Given the description of an element on the screen output the (x, y) to click on. 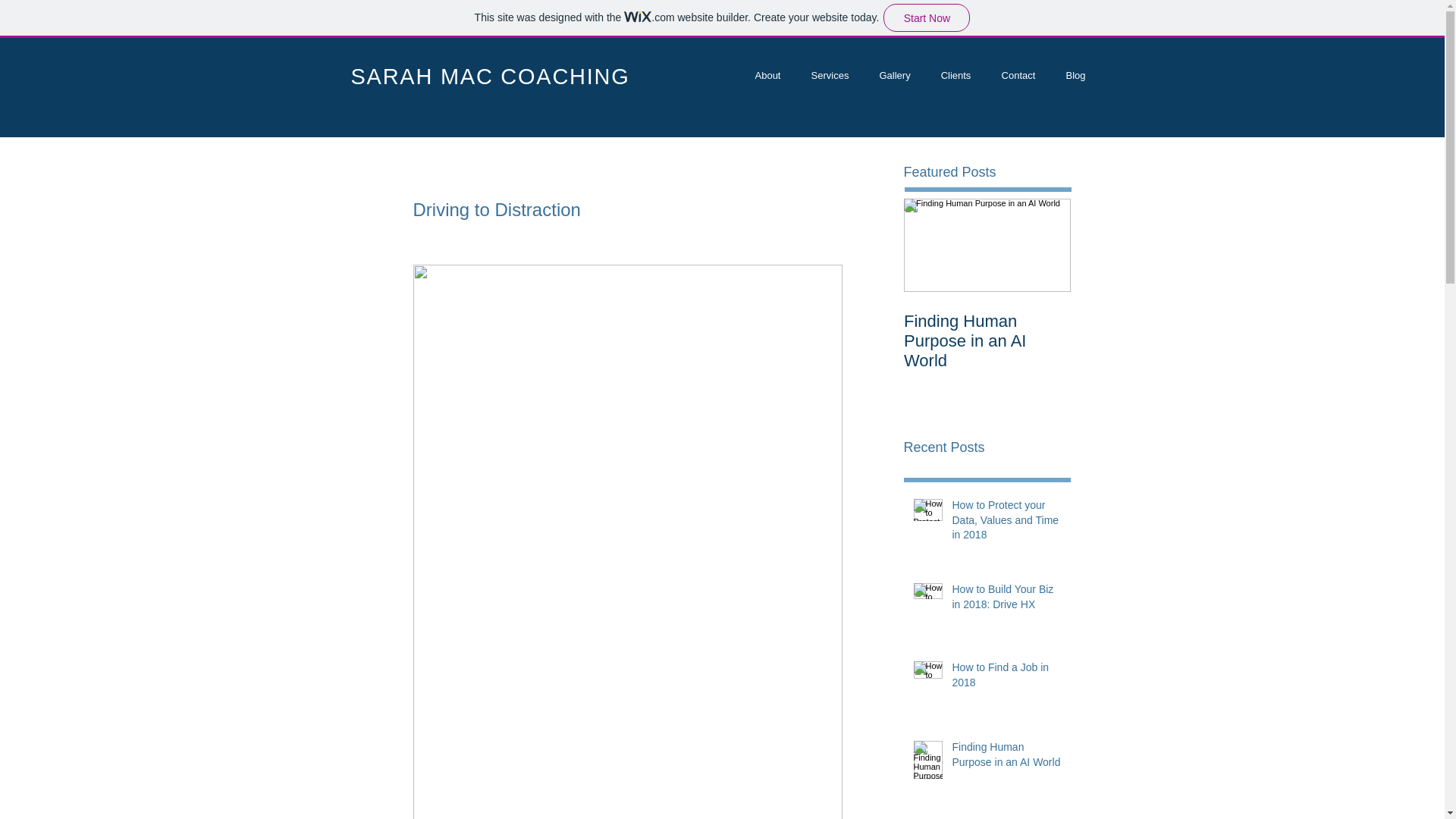
Contact (1017, 75)
Clients (954, 75)
Gallery (895, 75)
Finding Human Purpose in an AI World (1006, 757)
How to Build Your Biz in 2018: Drive HX (1006, 600)
About (767, 75)
Blog (1075, 75)
How to Find a Job in 2018 (1006, 678)
Services (830, 75)
Finding Human Purpose in an AI World (987, 341)
